Given the description of an element on the screen output the (x, y) to click on. 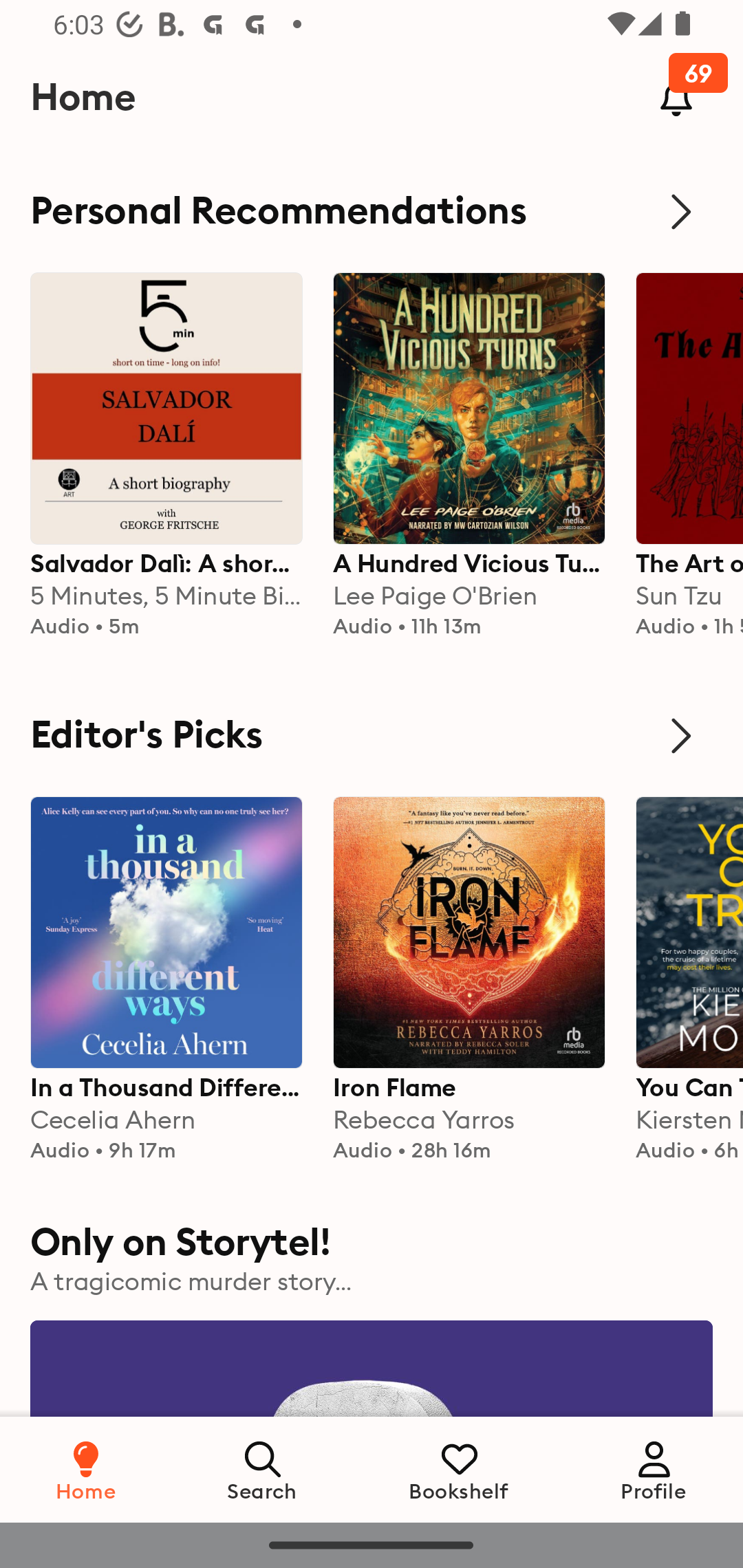
Personal Recommendations (371, 211)
Editor's Picks (371, 735)
Home (85, 1468)
Search (262, 1468)
Bookshelf (458, 1468)
Profile (653, 1468)
